Given the description of an element on the screen output the (x, y) to click on. 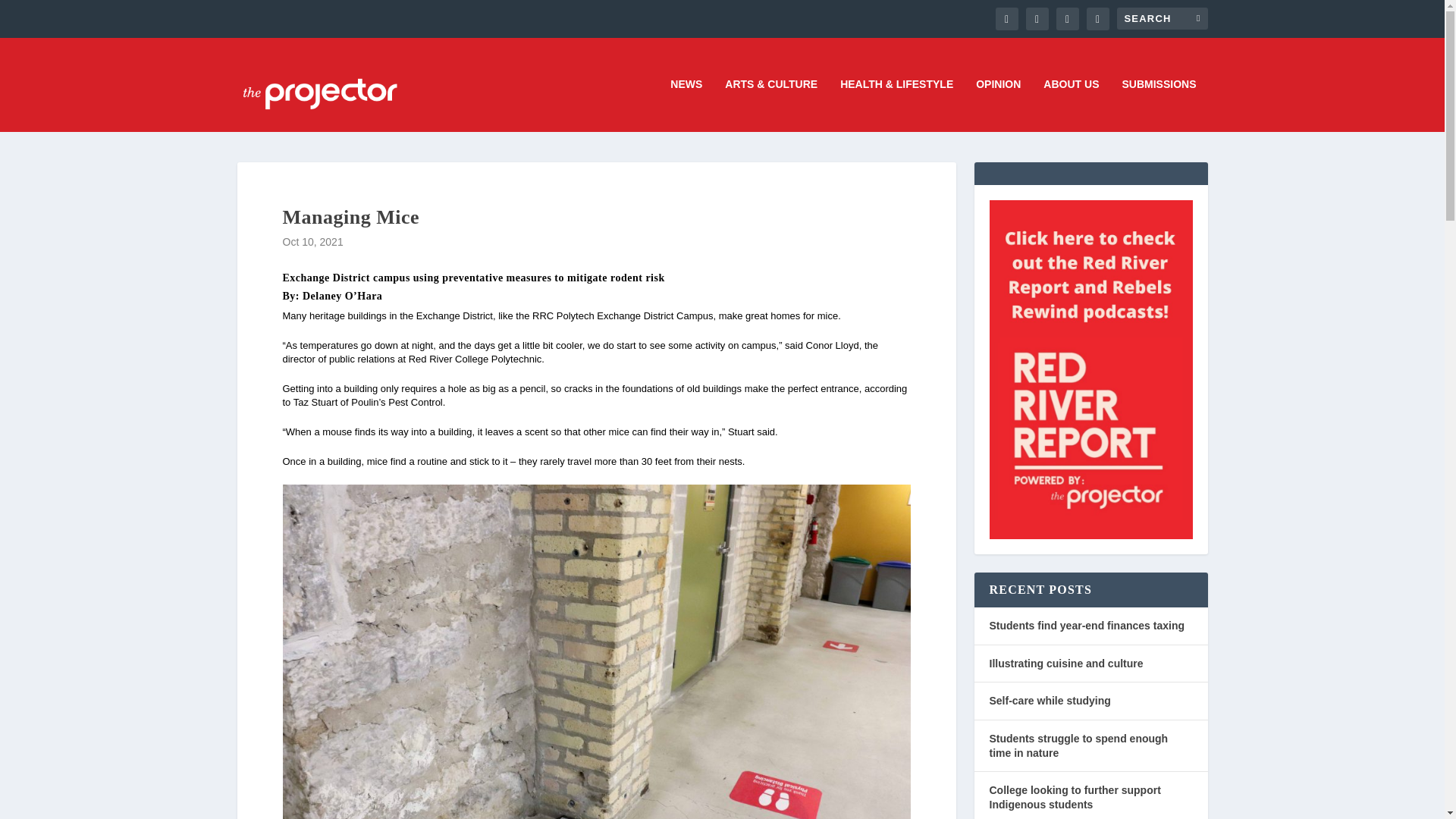
SUBMISSIONS (1158, 104)
ABOUT US (1071, 104)
Search for: (1161, 18)
